Given the description of an element on the screen output the (x, y) to click on. 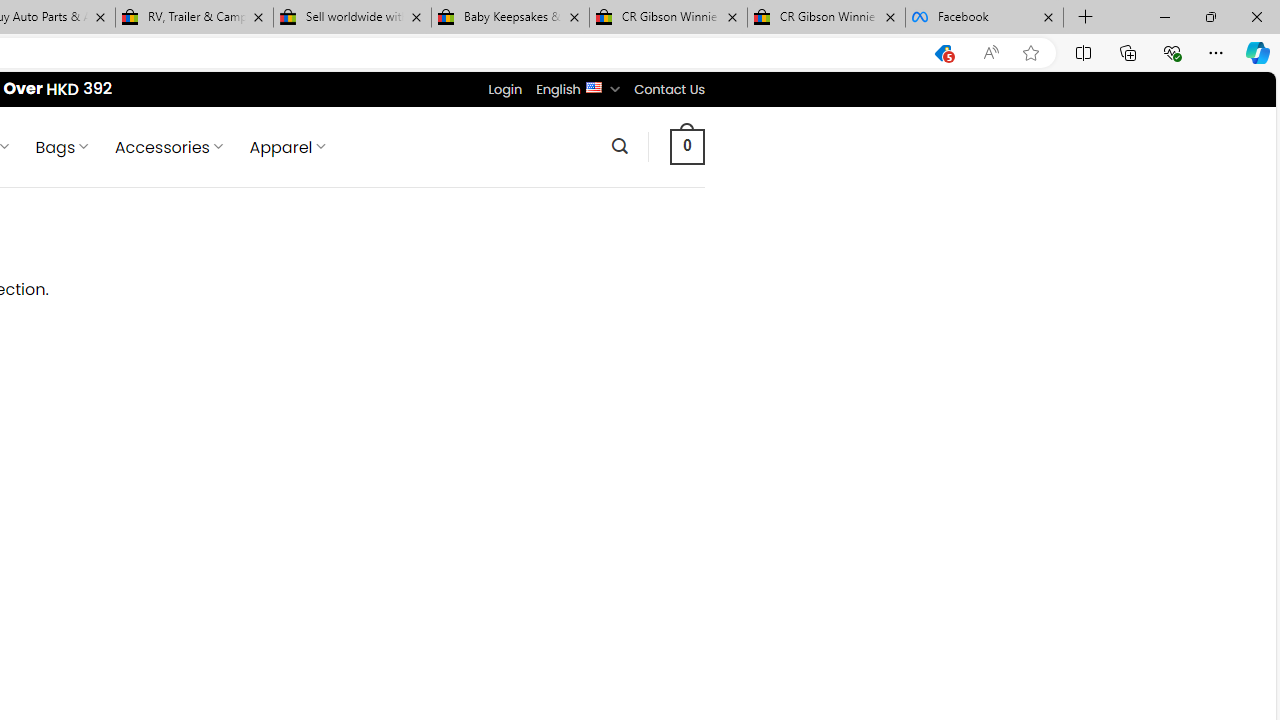
Contact Us (669, 89)
Sell worldwide with eBay (352, 17)
New Tab (1085, 17)
English (592, 86)
RV, Trailer & Camper Steps & Ladders for sale | eBay (194, 17)
Baby Keepsakes & Announcements for sale | eBay (509, 17)
Login (505, 89)
Close (1256, 16)
Browser essentials (1171, 52)
Split screen (1083, 52)
